Given the description of an element on the screen output the (x, y) to click on. 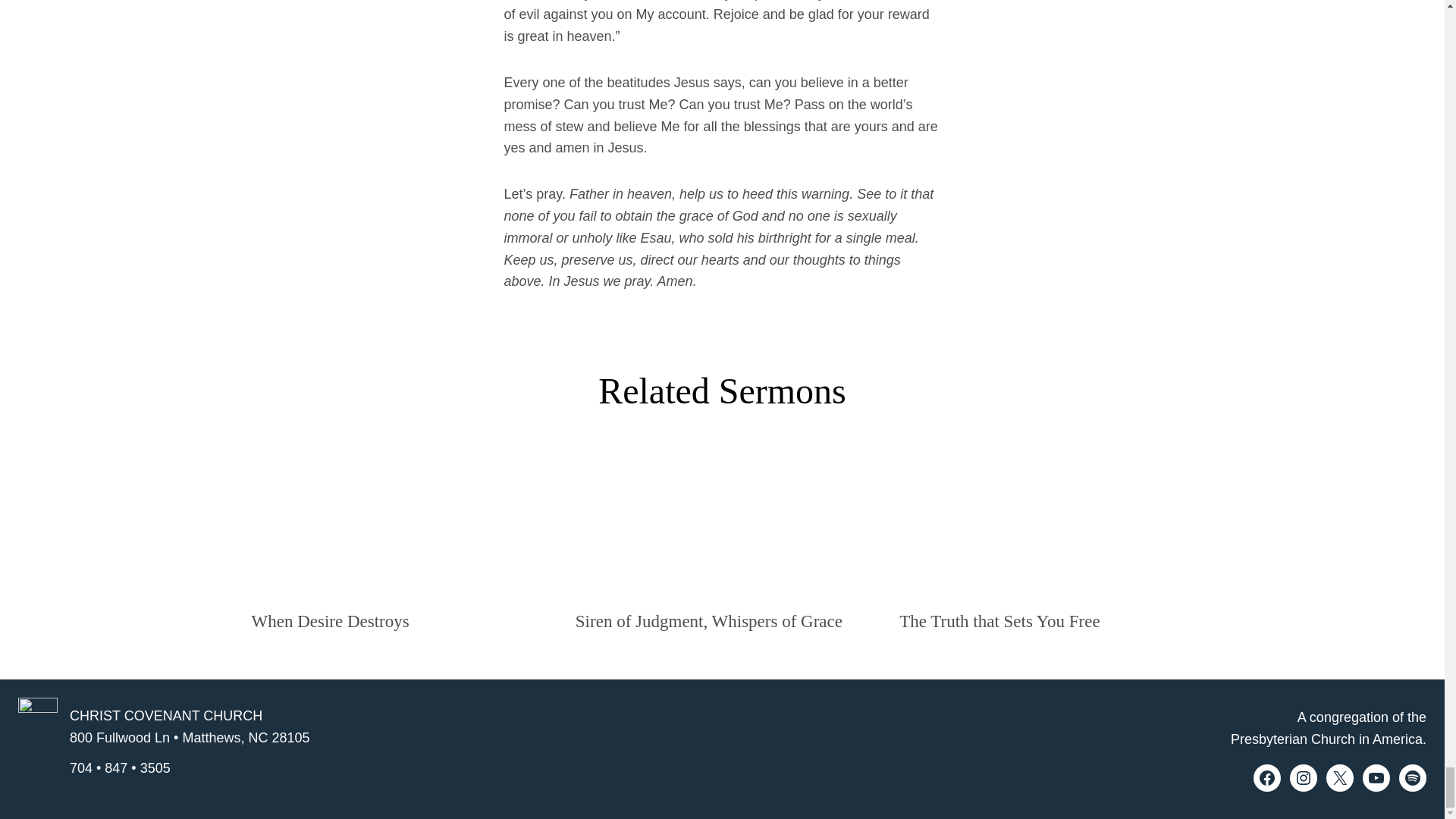
The Truth that Sets You Free (999, 620)
Facebook (1267, 777)
Spotify (1412, 777)
YouTube (1376, 777)
Christ Covenant Church homepage (37, 742)
Siren of Judgment, Whispers of Grace (709, 620)
Instagram (1303, 777)
X (1340, 777)
When Desire Destroys (330, 620)
